Given the description of an element on the screen output the (x, y) to click on. 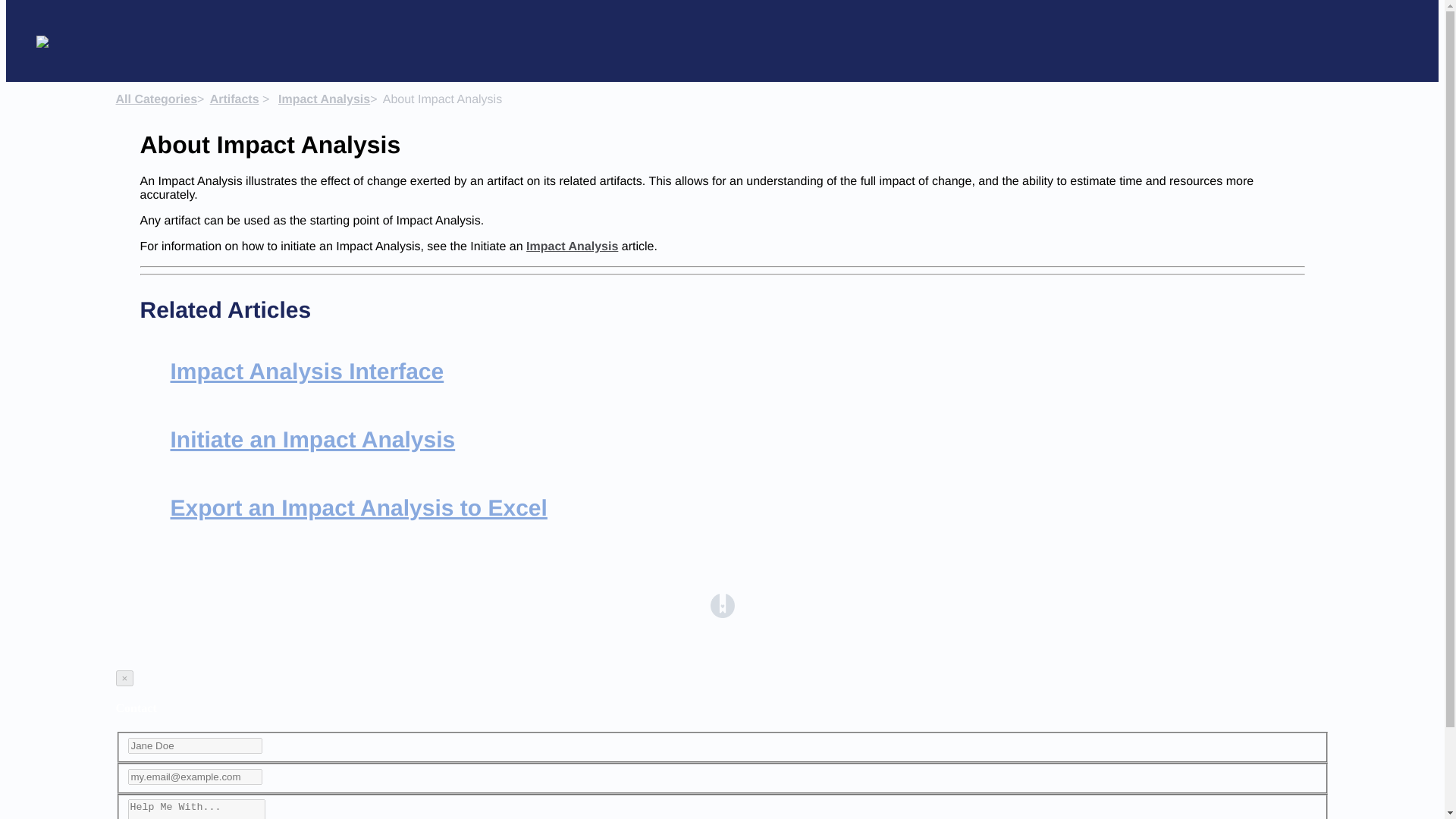
Powered by HelpDocs (721, 614)
